Given the description of an element on the screen output the (x, y) to click on. 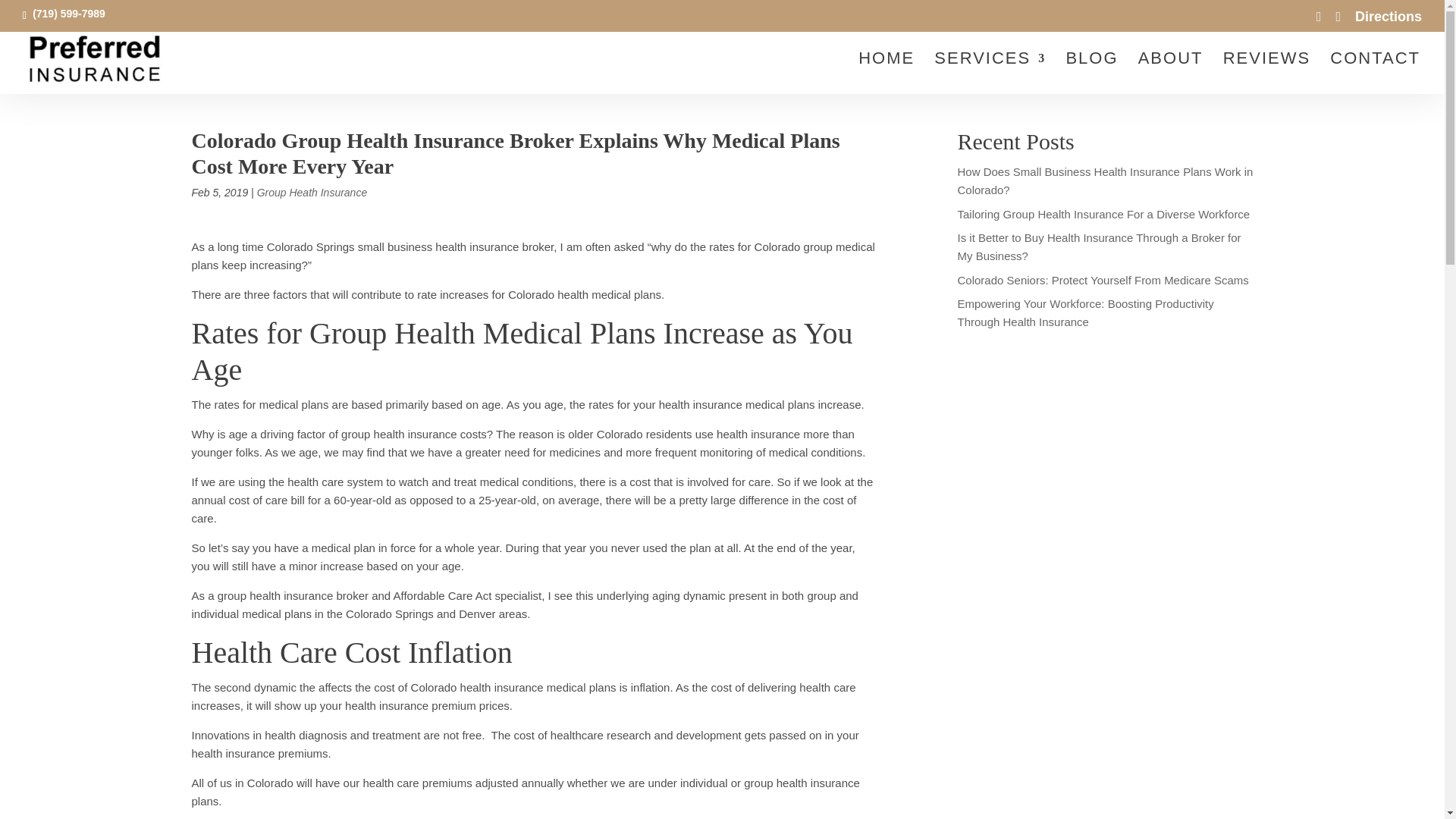
Colorado Seniors: Protect Yourself From Medicare Scams (1101, 278)
Tailoring Group Health Insurance For a Diverse Workforce (1102, 214)
BLOG (1091, 73)
Directions (1388, 20)
ABOUT (1171, 73)
HOME (886, 73)
Group Heath Insurance (312, 192)
REVIEWS (1266, 73)
